Given the description of an element on the screen output the (x, y) to click on. 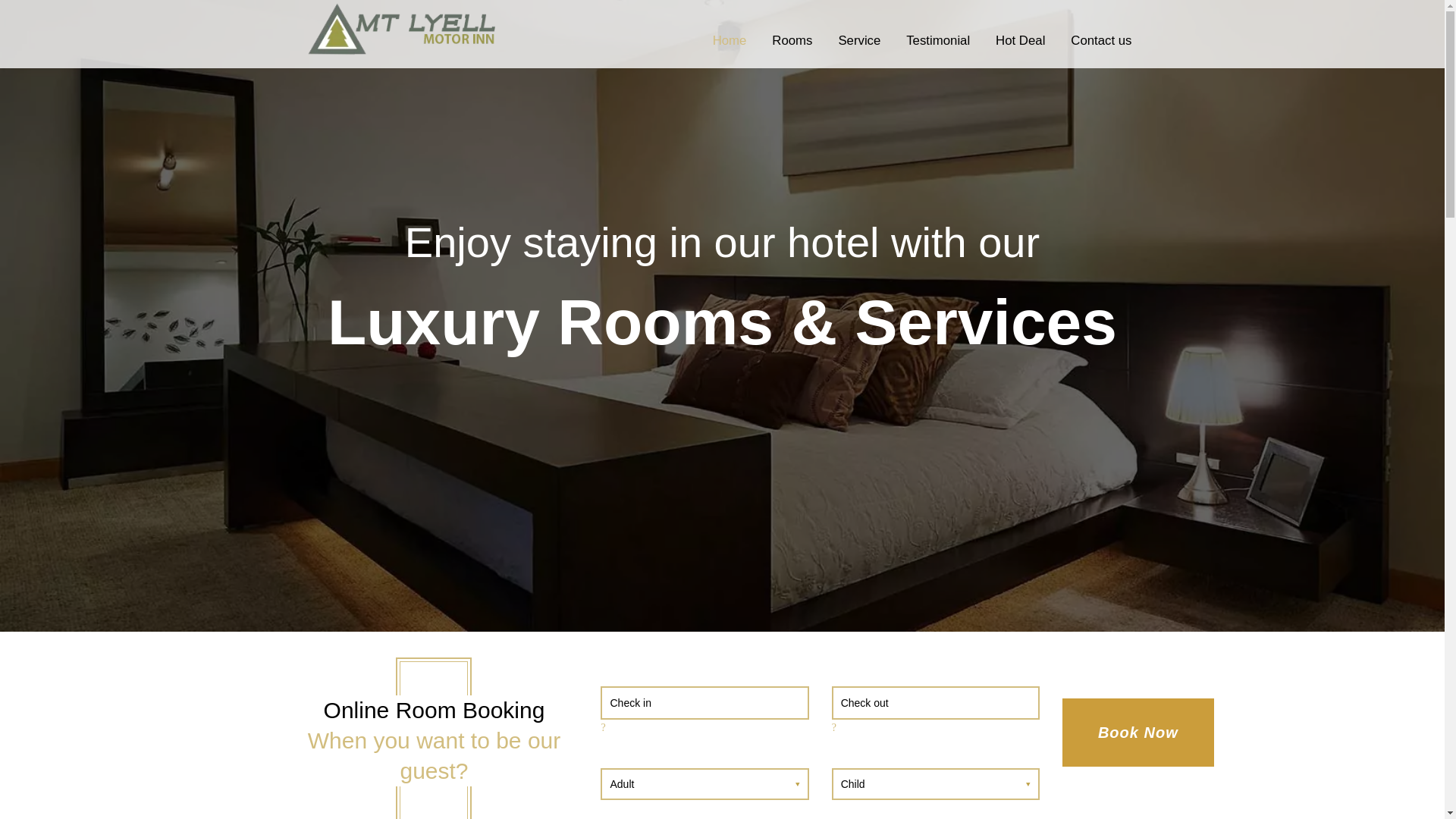
Contact us Element type: text (1101, 40)
Book Now Element type: text (1138, 732)
Service Element type: text (859, 40)
Rooms Element type: text (791, 40)
Hot Deal Element type: text (1020, 40)
Testimonial Element type: text (937, 40)
Adult Element type: text (704, 784)
Home Element type: text (729, 40)
Child Element type: text (935, 784)
